Given the description of an element on the screen output the (x, y) to click on. 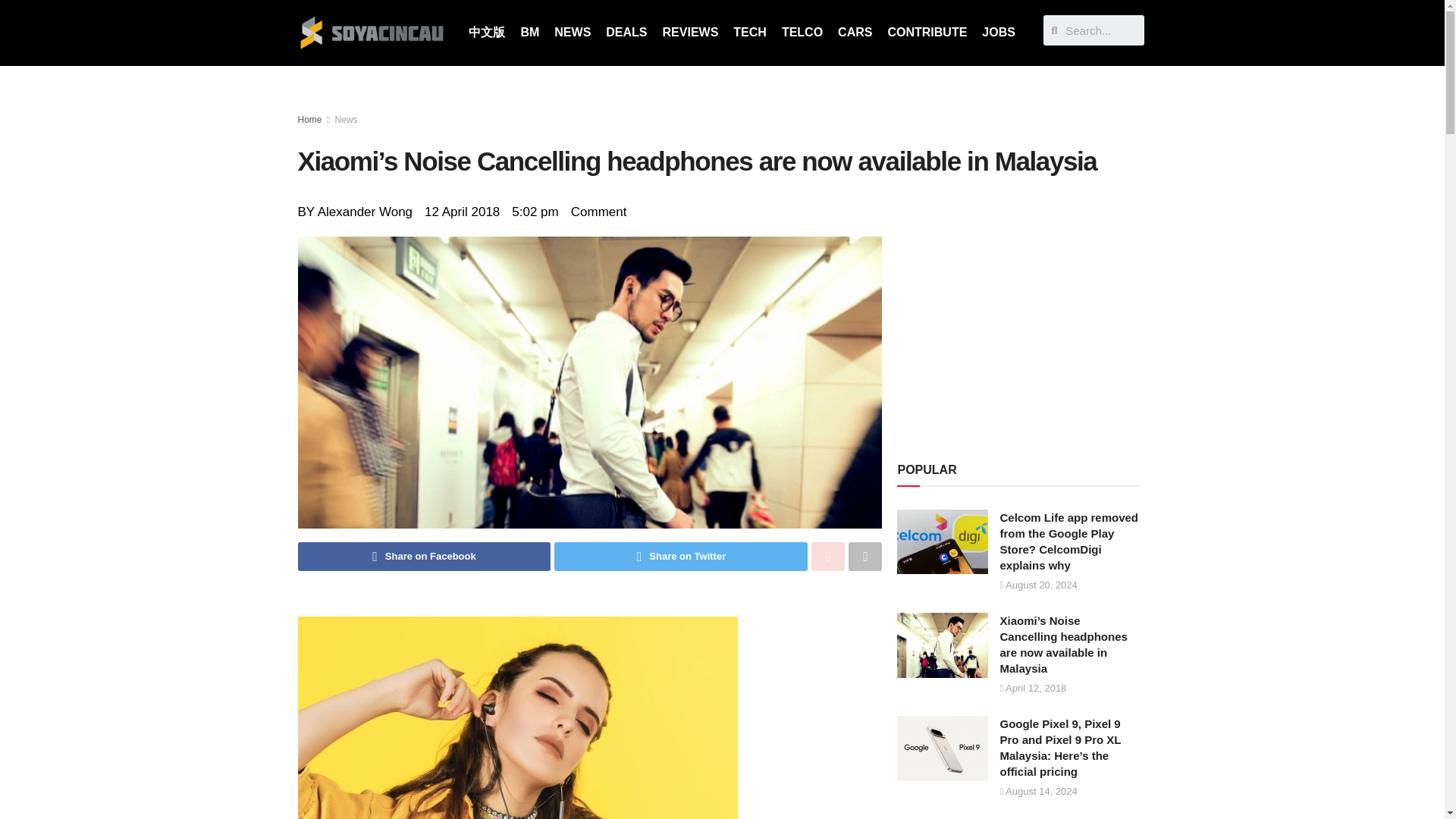
Search (1101, 30)
TECH (749, 32)
JOBS (998, 32)
NEWS (572, 32)
DEALS (625, 32)
CARS (854, 32)
BM (529, 32)
CONTRIBUTE (926, 32)
REVIEWS (690, 32)
TELCO (801, 32)
